Given the description of an element on the screen output the (x, y) to click on. 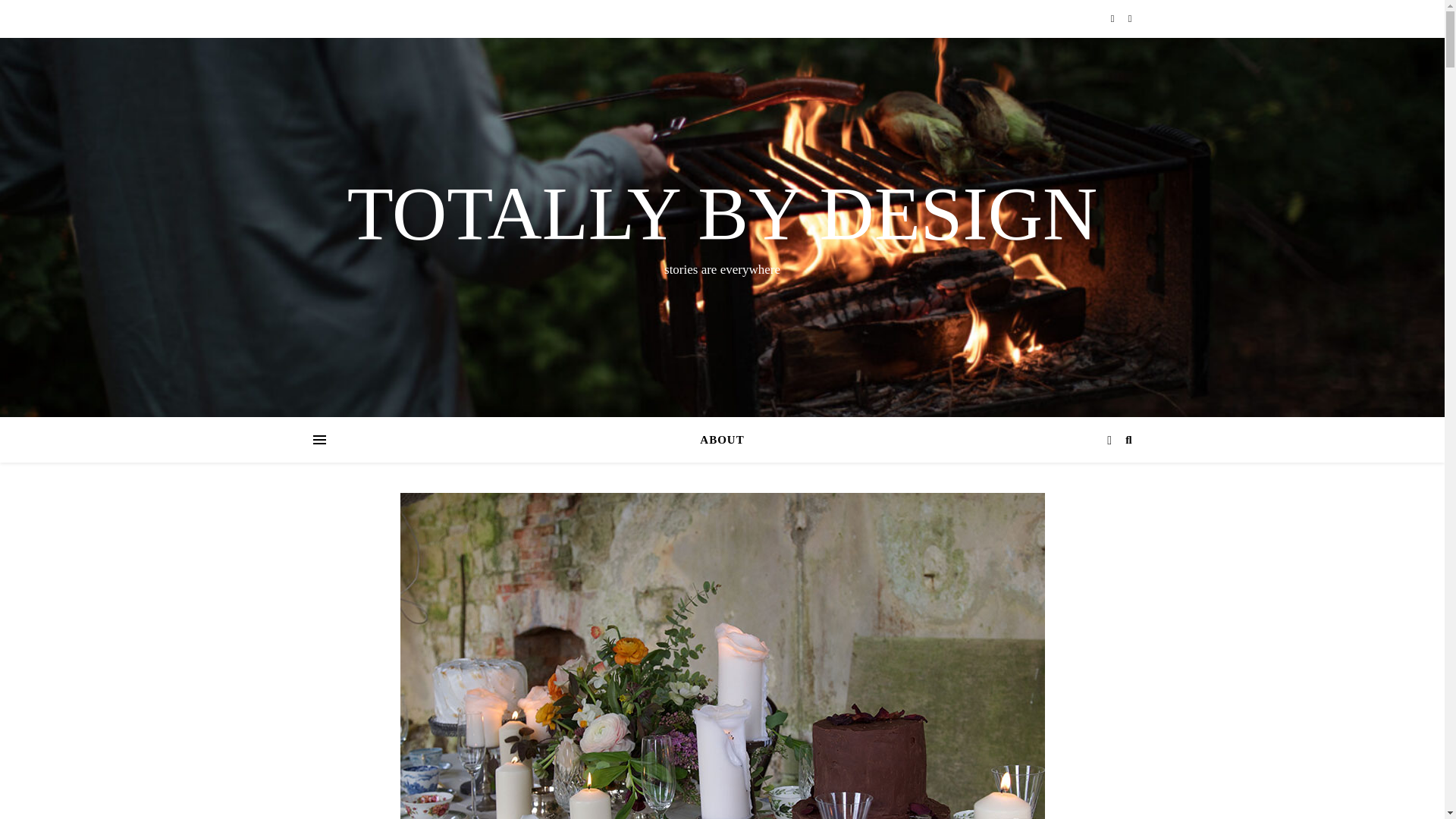
ABOUT (722, 439)
